Given the description of an element on the screen output the (x, y) to click on. 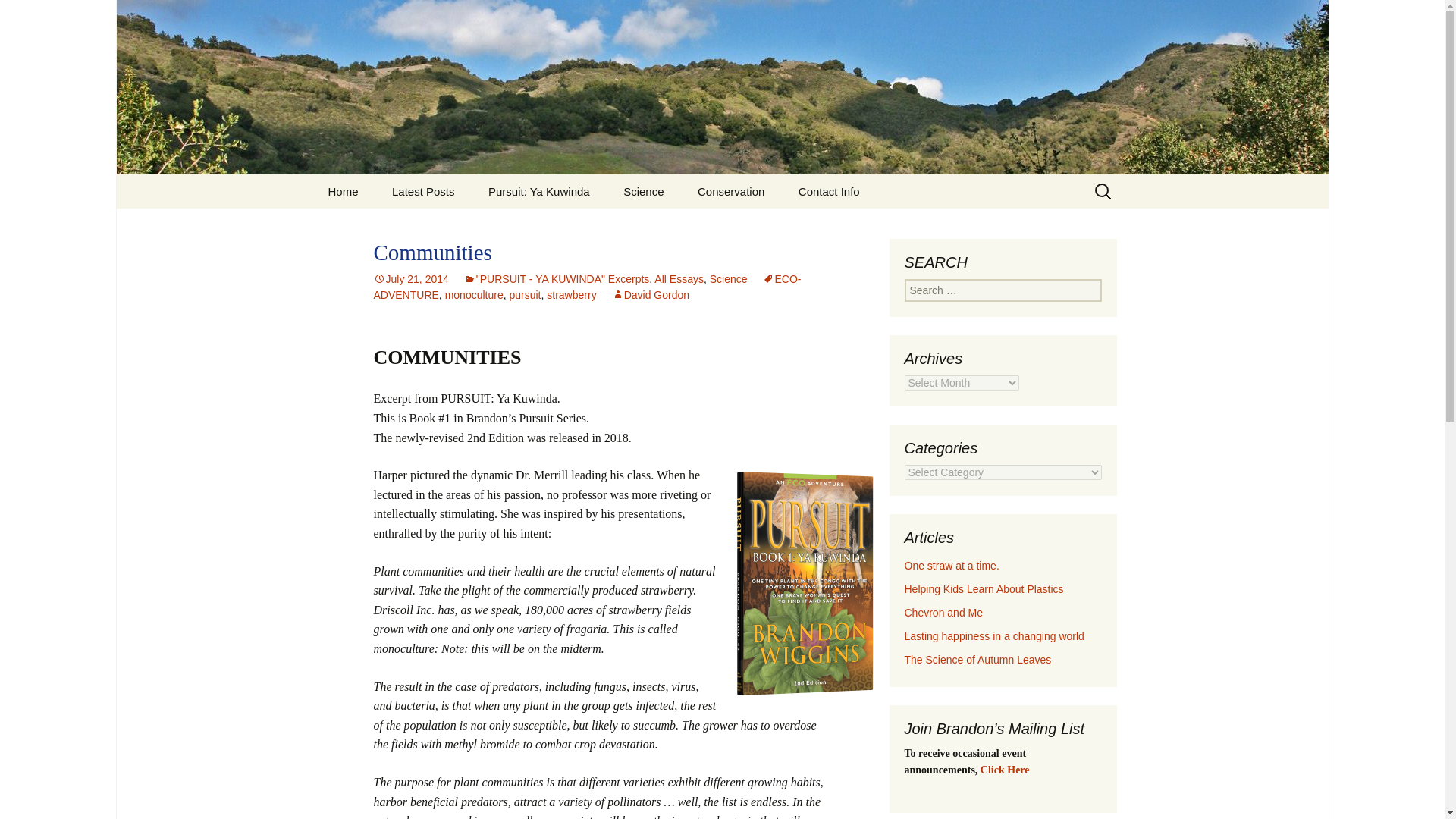
"PURSUIT - YA KUWINDA" Excerpts (556, 278)
Lasting happiness in a changing world (993, 635)
Search (34, 15)
View all posts by David Gordon (649, 295)
Permalink to Communities (410, 278)
One straw at a time. (951, 565)
The Science of Autumn Leaves (977, 659)
Latest Posts (423, 191)
Helping Kids Learn About Plastics (983, 589)
To My Colleagues (388, 225)
